Given the description of an element on the screen output the (x, y) to click on. 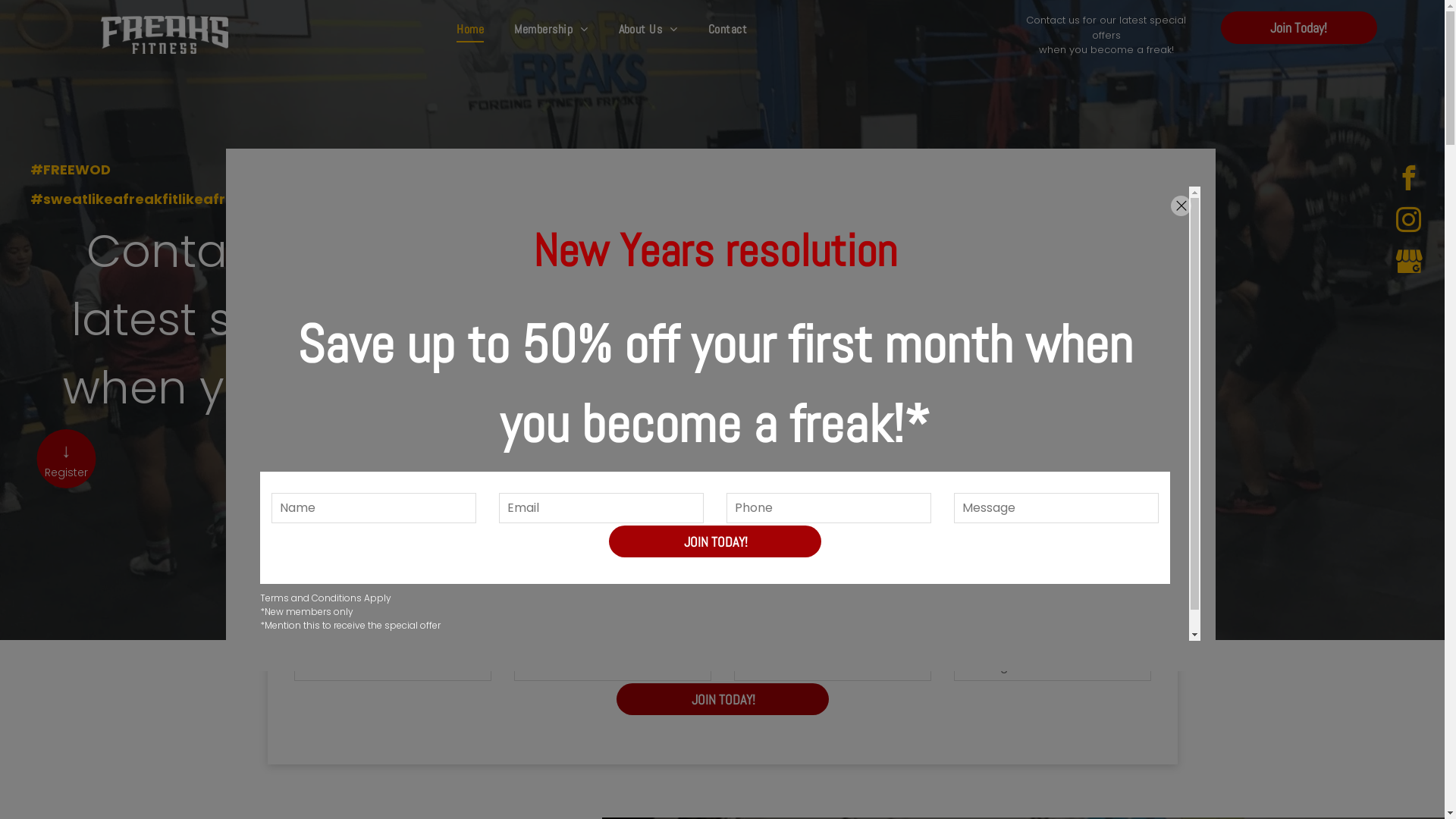
Home Element type: text (469, 29)
Join Today! Element type: text (1298, 27)
JOIN TODAY! Element type: text (715, 540)
Contact Element type: text (727, 29)
About Us Element type: text (648, 29)
JOIN TODAY! Element type: text (723, 699)
Membership Element type: text (550, 29)
